Given the description of an element on the screen output the (x, y) to click on. 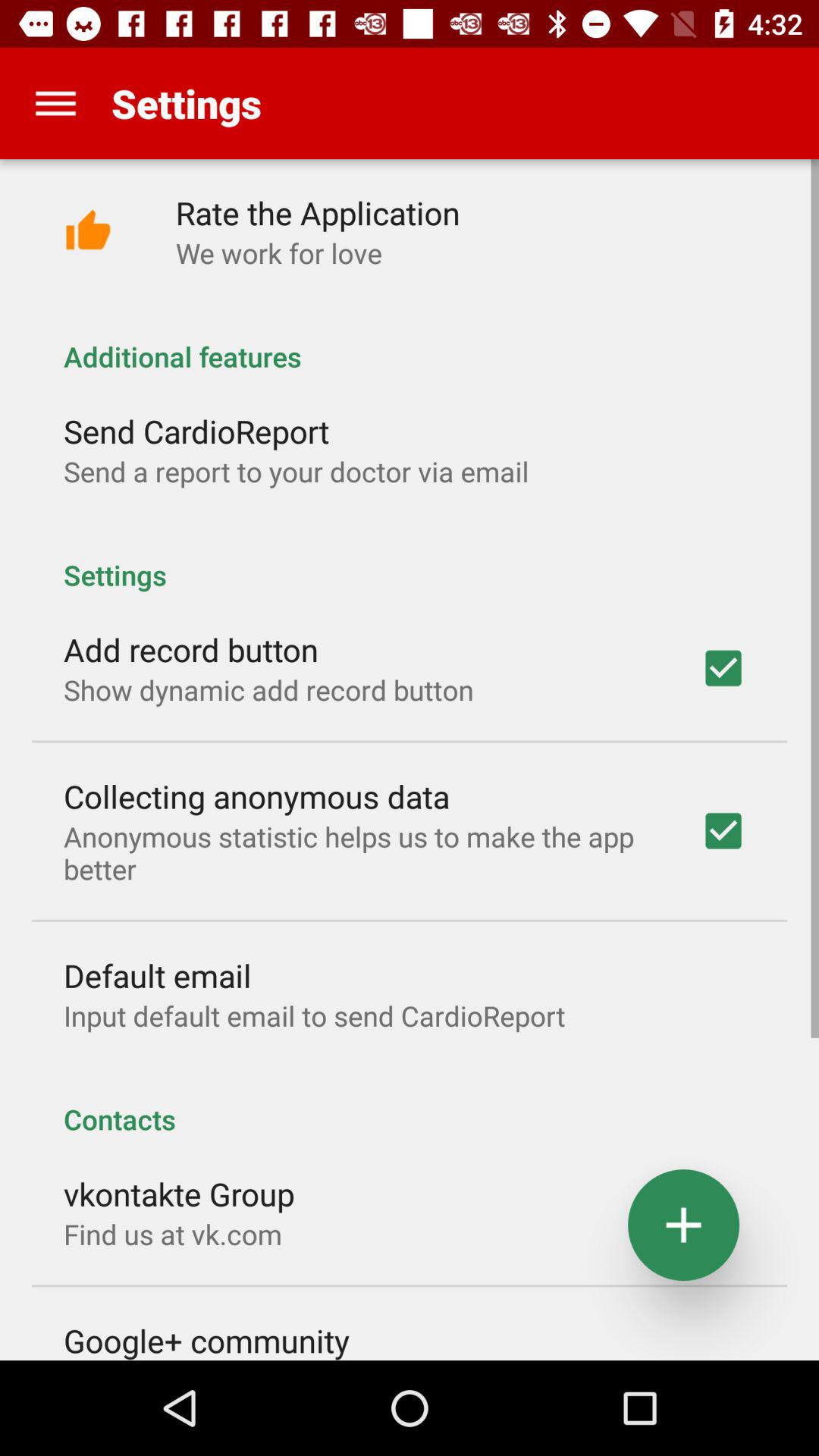
select item next to the settings item (55, 103)
